Given the description of an element on the screen output the (x, y) to click on. 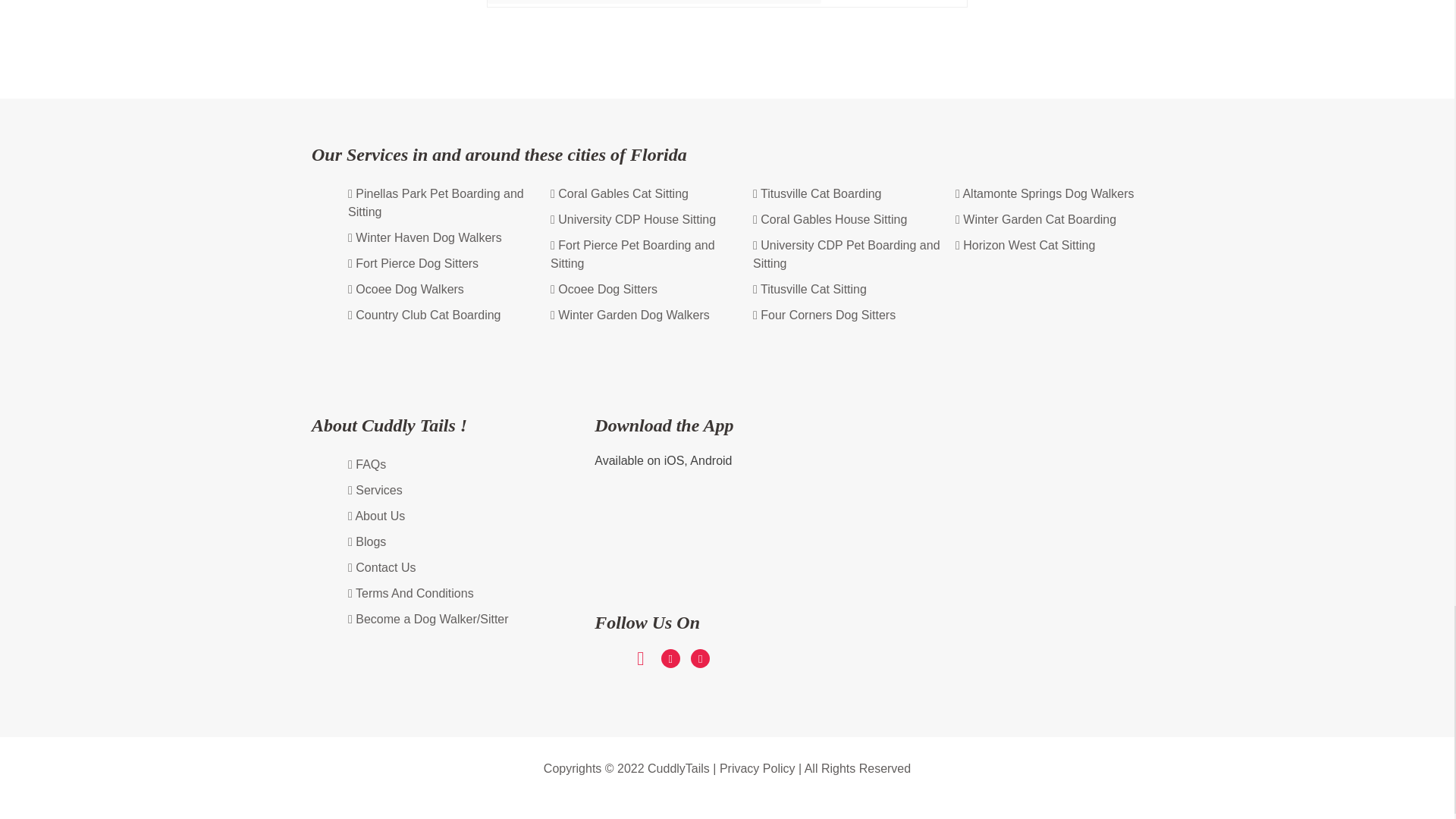
Winter Haven Dog Walkers (424, 237)
Fort Pierce Pet Boarding and Sitting (644, 254)
Ocoee Dog Sitters (604, 289)
Country Club Cat Boarding (423, 315)
Titusville Cat Boarding (816, 193)
Titusville Cat Sitting (809, 289)
Winter Garden Dog Walkers (630, 315)
Fort Pierce Dog Sitters (413, 263)
Ocoee Dog Walkers (405, 289)
Horizon West Cat Sitting (1024, 245)
